Given the description of an element on the screen output the (x, y) to click on. 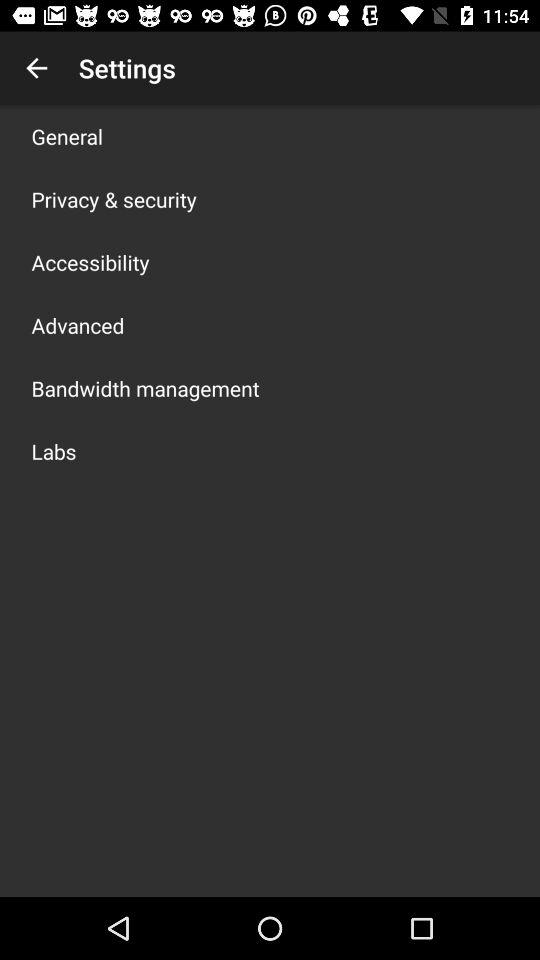
jump to the accessibility icon (90, 262)
